Given the description of an element on the screen output the (x, y) to click on. 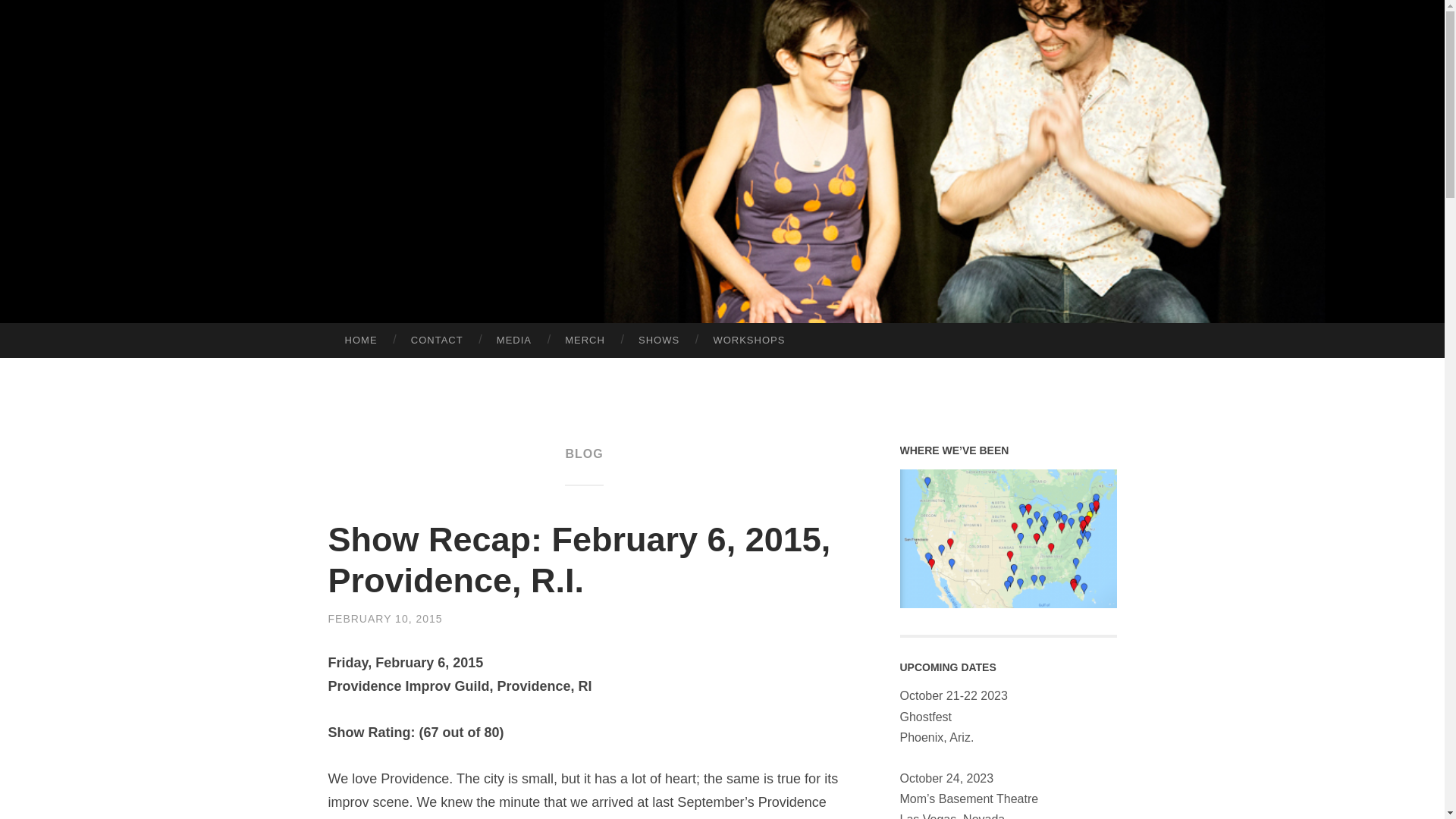
SHOWS (658, 339)
MEDIA (514, 339)
WORKSHOPS (748, 339)
MERCH (584, 339)
SKIP TO CONTENT (16, 334)
HOME (360, 339)
CONTACT (437, 339)
Show Recap: February 6, 2015, Providence, R.I. (578, 559)
FEBRUARY 10, 2015 (384, 618)
